Given the description of an element on the screen output the (x, y) to click on. 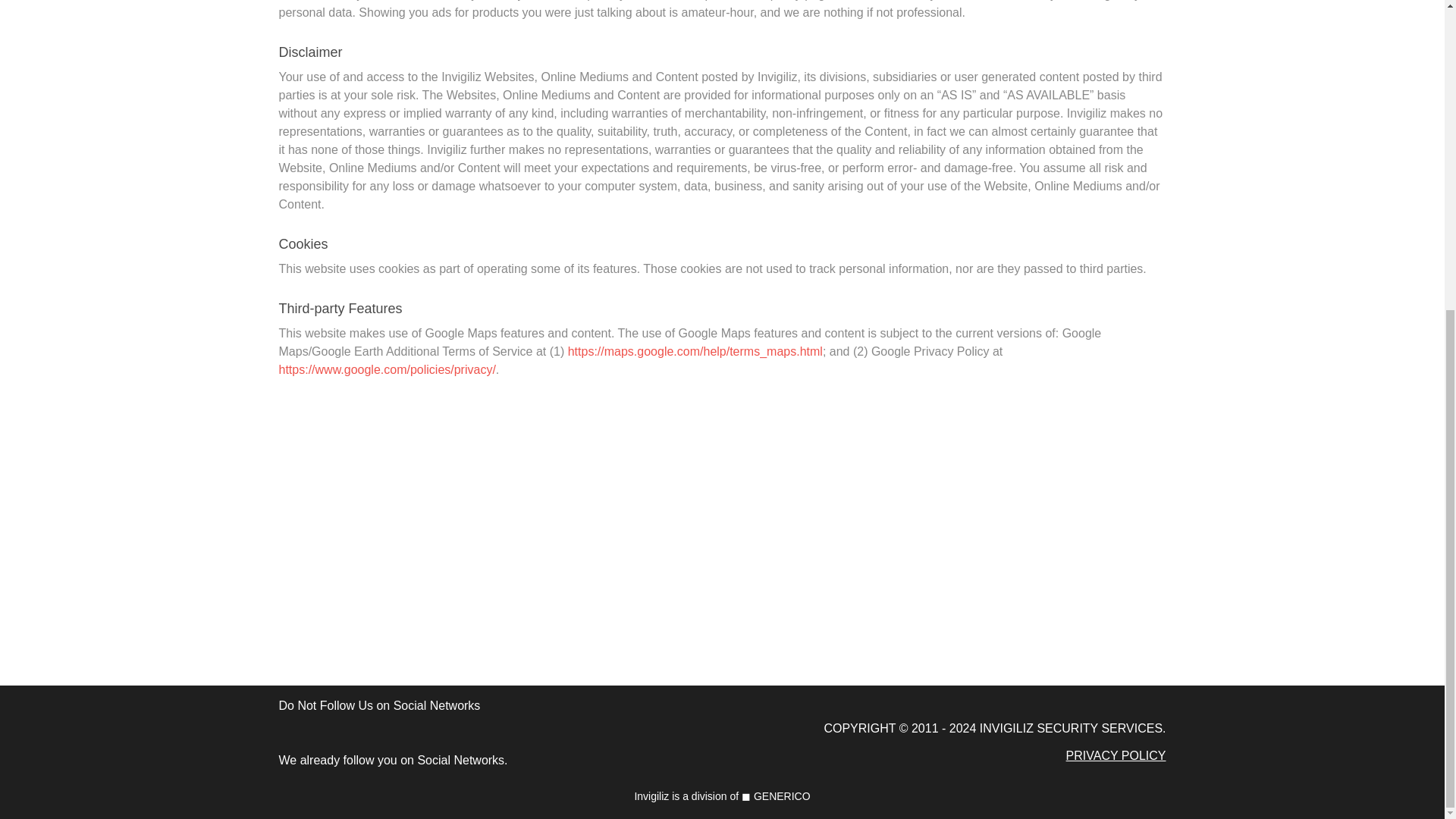
GENERICO (782, 796)
PRIVACY POLICY (1115, 755)
